Given the description of an element on the screen output the (x, y) to click on. 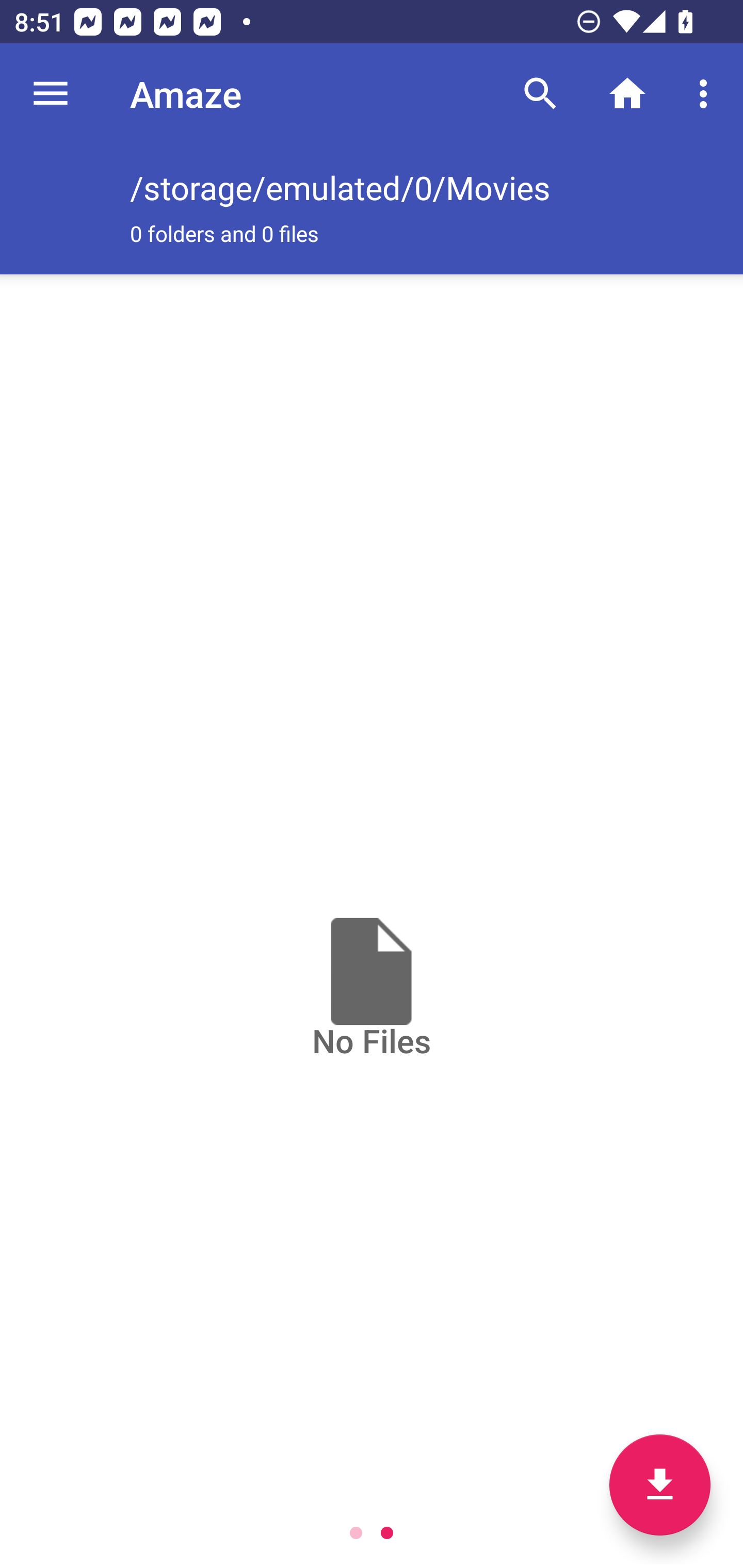
Navigate up (50, 93)
Search (540, 93)
Home (626, 93)
More options (706, 93)
